Given the description of an element on the screen output the (x, y) to click on. 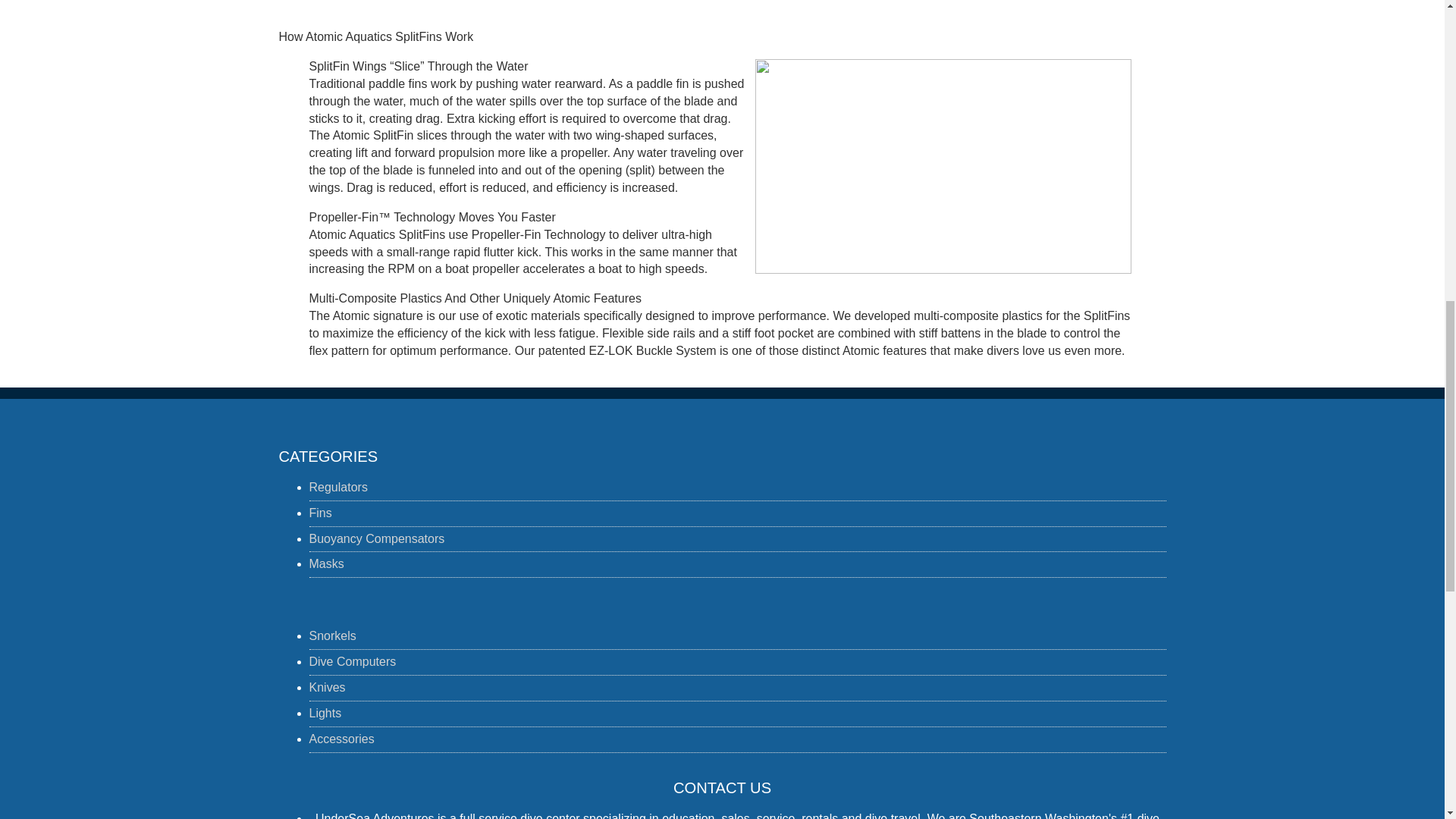
Lights (325, 712)
Dive Computers (352, 661)
Knives (327, 686)
Buoyancy Compensators (376, 538)
Regulators (338, 486)
Fins (319, 512)
Snorkels (332, 635)
Masks (325, 563)
Accessories (341, 738)
